Given the description of an element on the screen output the (x, y) to click on. 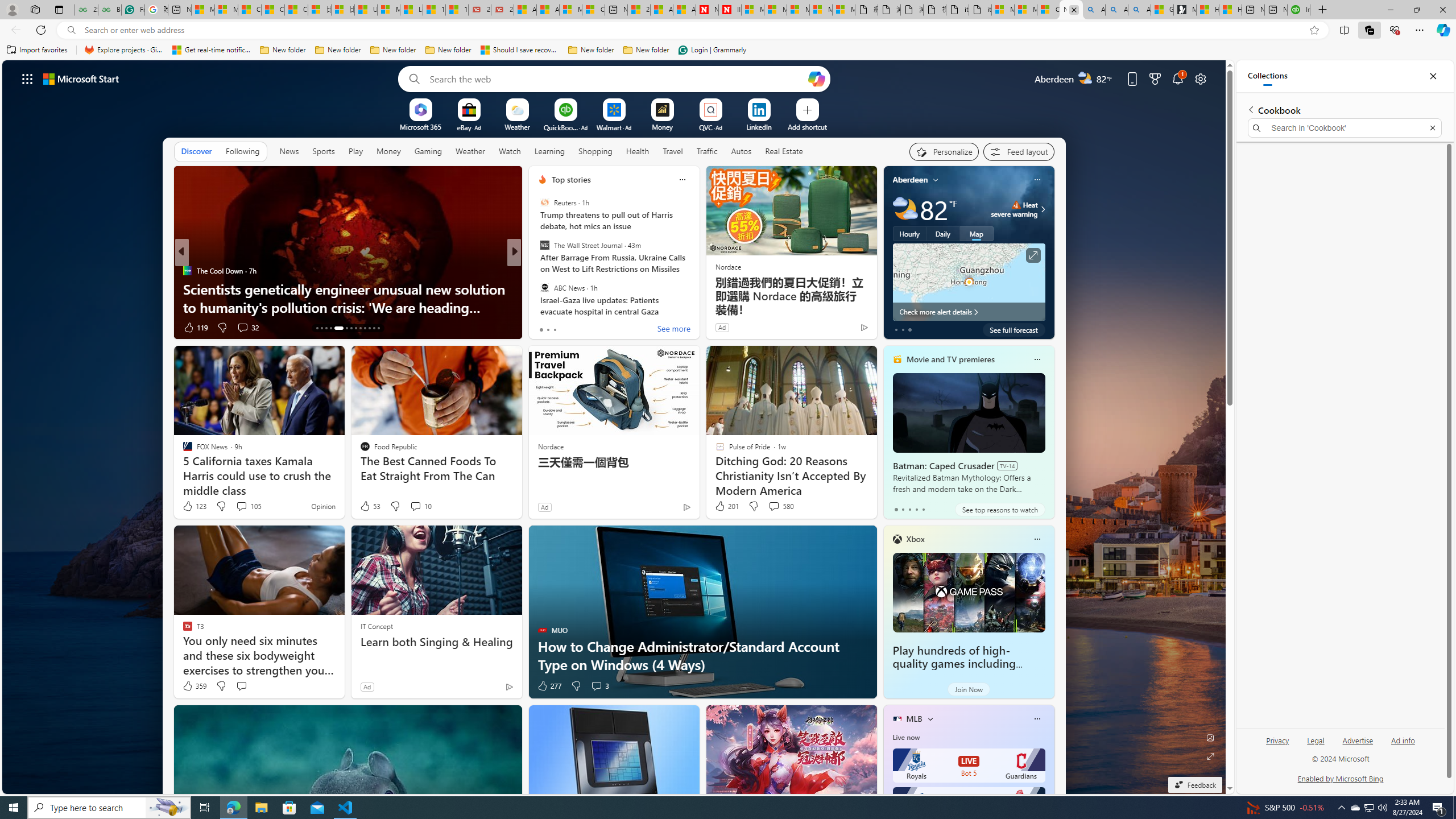
Heat - Severe (1015, 204)
AutomationID: tab-18 (346, 328)
ABC News (544, 287)
View comments 82 Comment (592, 327)
Alabama high school quarterback dies - Search Videos (1139, 9)
201 Like (726, 505)
Import favorites (36, 49)
Daily (942, 233)
